Given the description of an element on the screen output the (x, y) to click on. 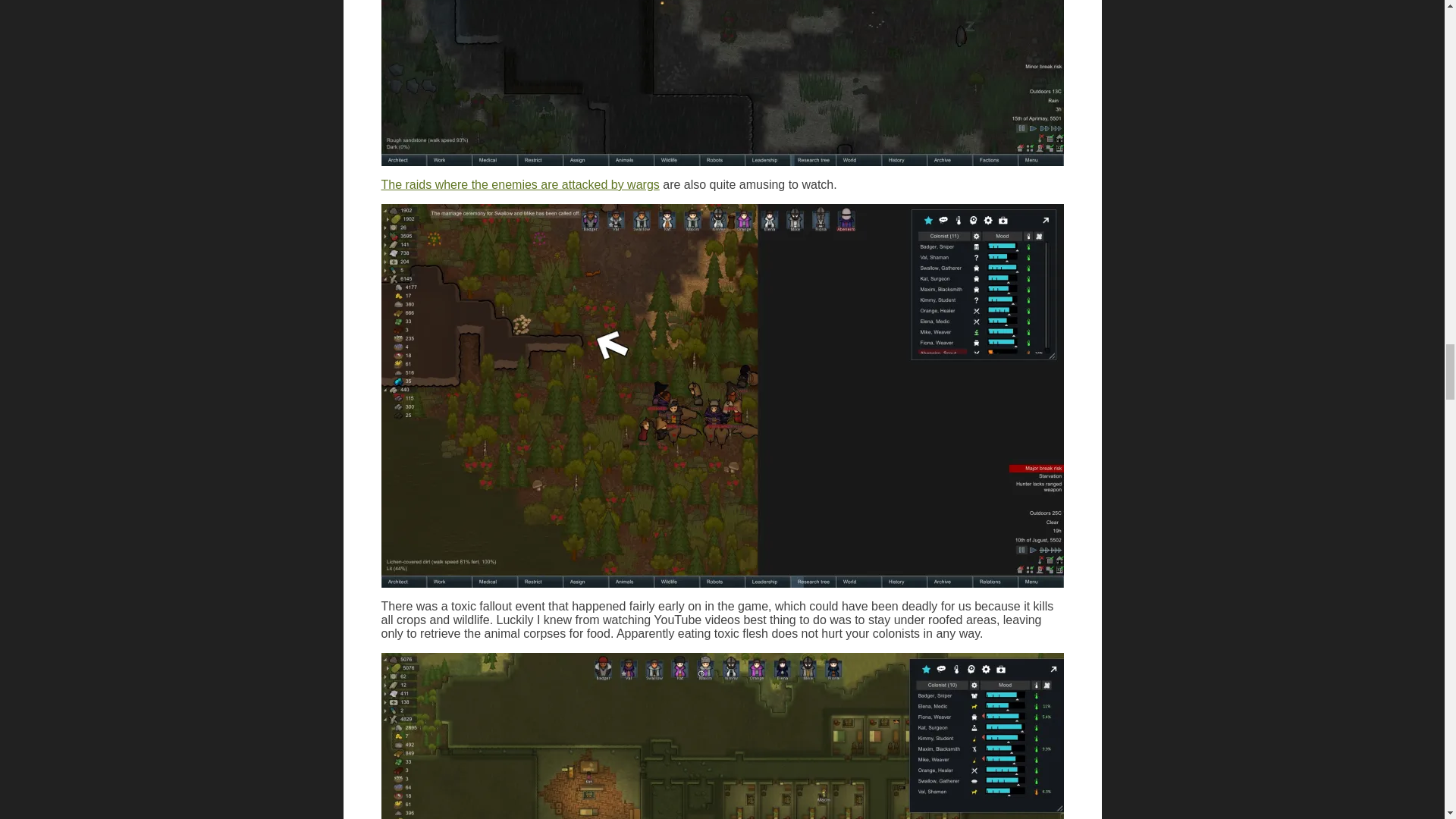
The raids where the enemies are attacked by wargs (519, 184)
